Given the description of an element on the screen output the (x, y) to click on. 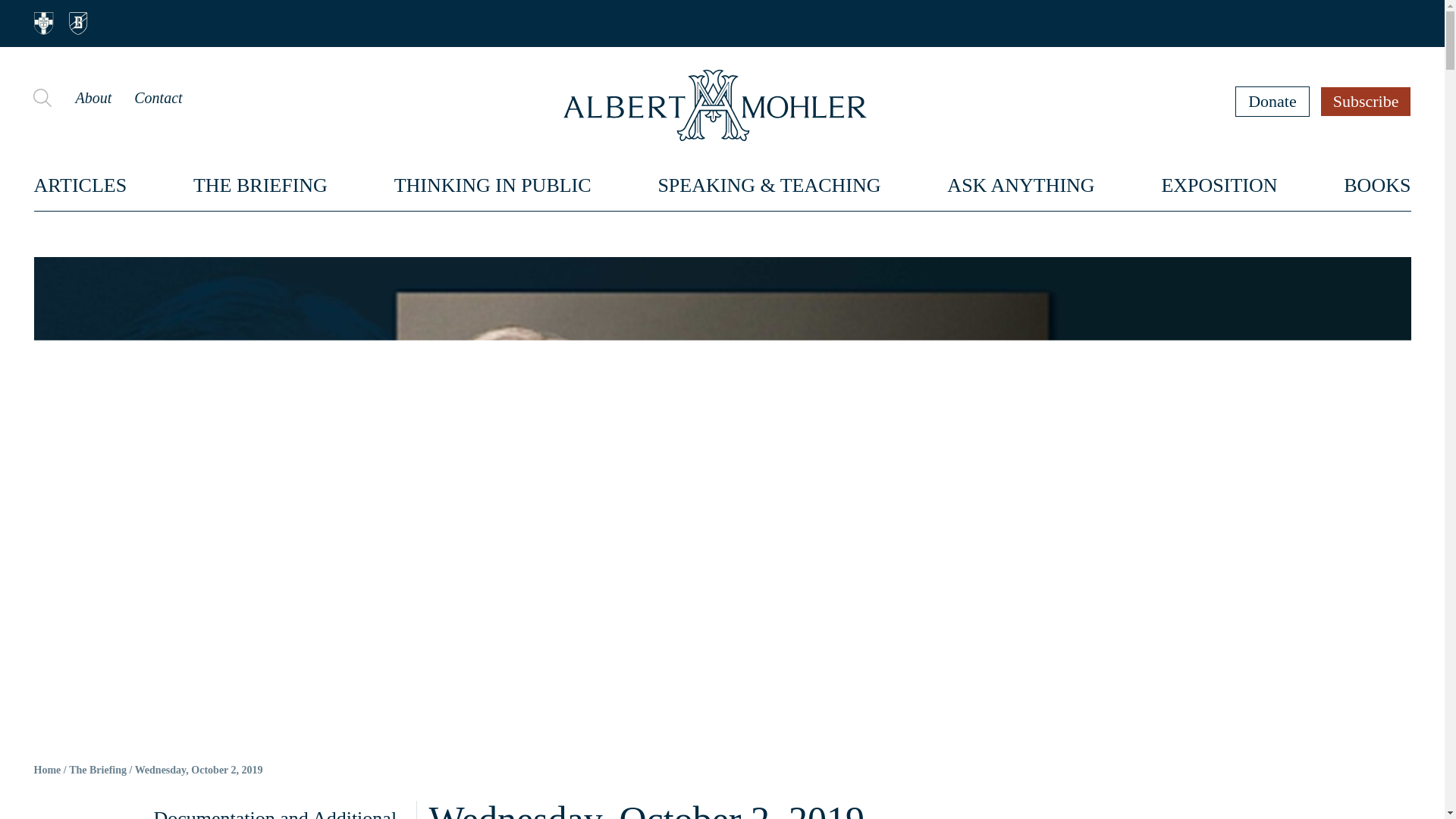
BOOKS (1376, 185)
THINKING IN PUBLIC (492, 185)
The Briefing (97, 770)
EXPOSITION (1218, 185)
ARTICLES (79, 185)
About (93, 97)
Contact (157, 97)
Home (47, 770)
Donate (1272, 101)
THE BRIEFING (260, 185)
ASK ANYTHING (1020, 185)
Subscribe (1366, 101)
